Given the description of an element on the screen output the (x, y) to click on. 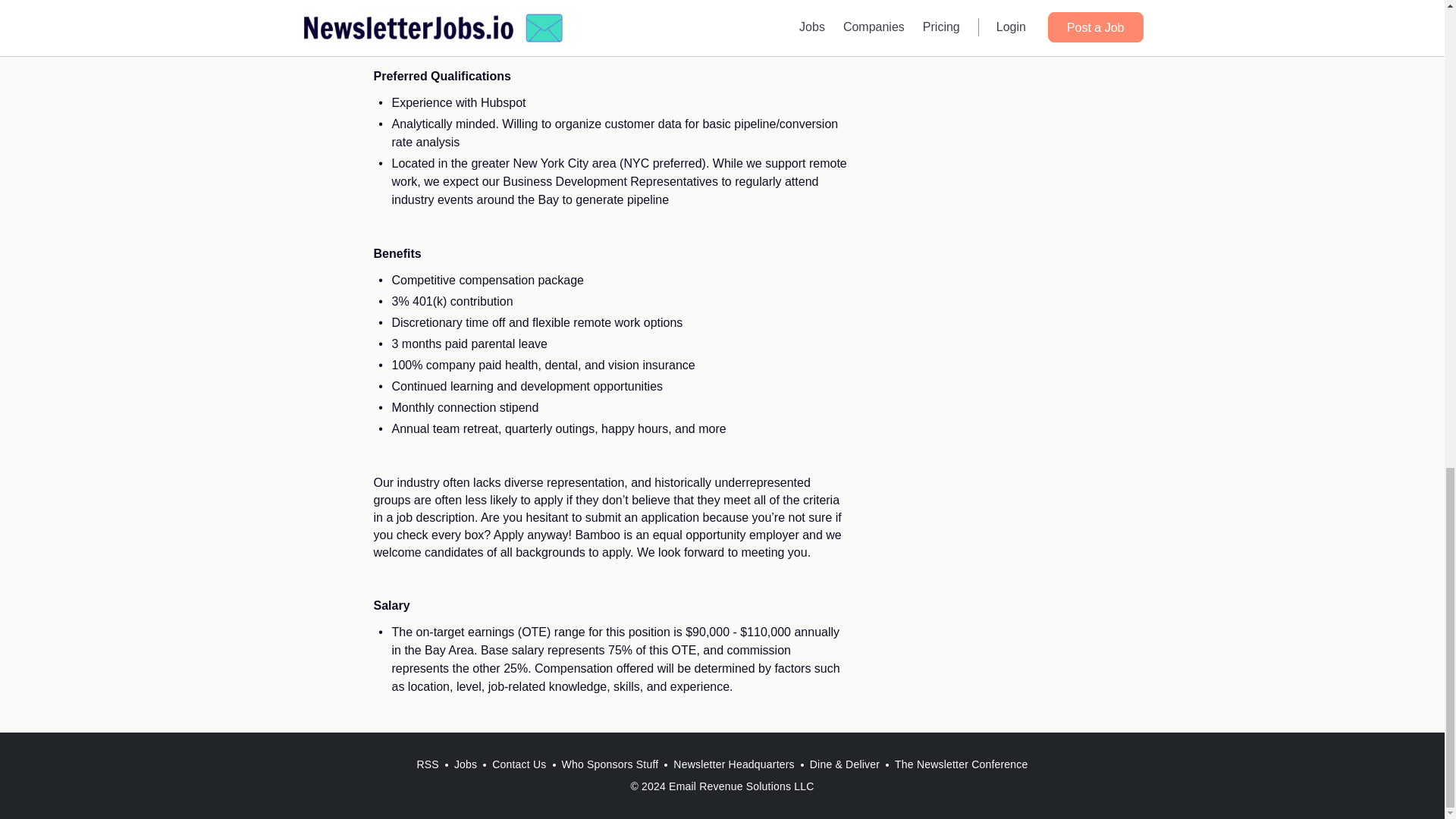
Contact Us (518, 764)
RSS (427, 764)
Newsletter Headquarters (733, 764)
Who Sponsors Stuff (609, 764)
The Newsletter Conference (960, 764)
Jobs (465, 764)
